Given the description of an element on the screen output the (x, y) to click on. 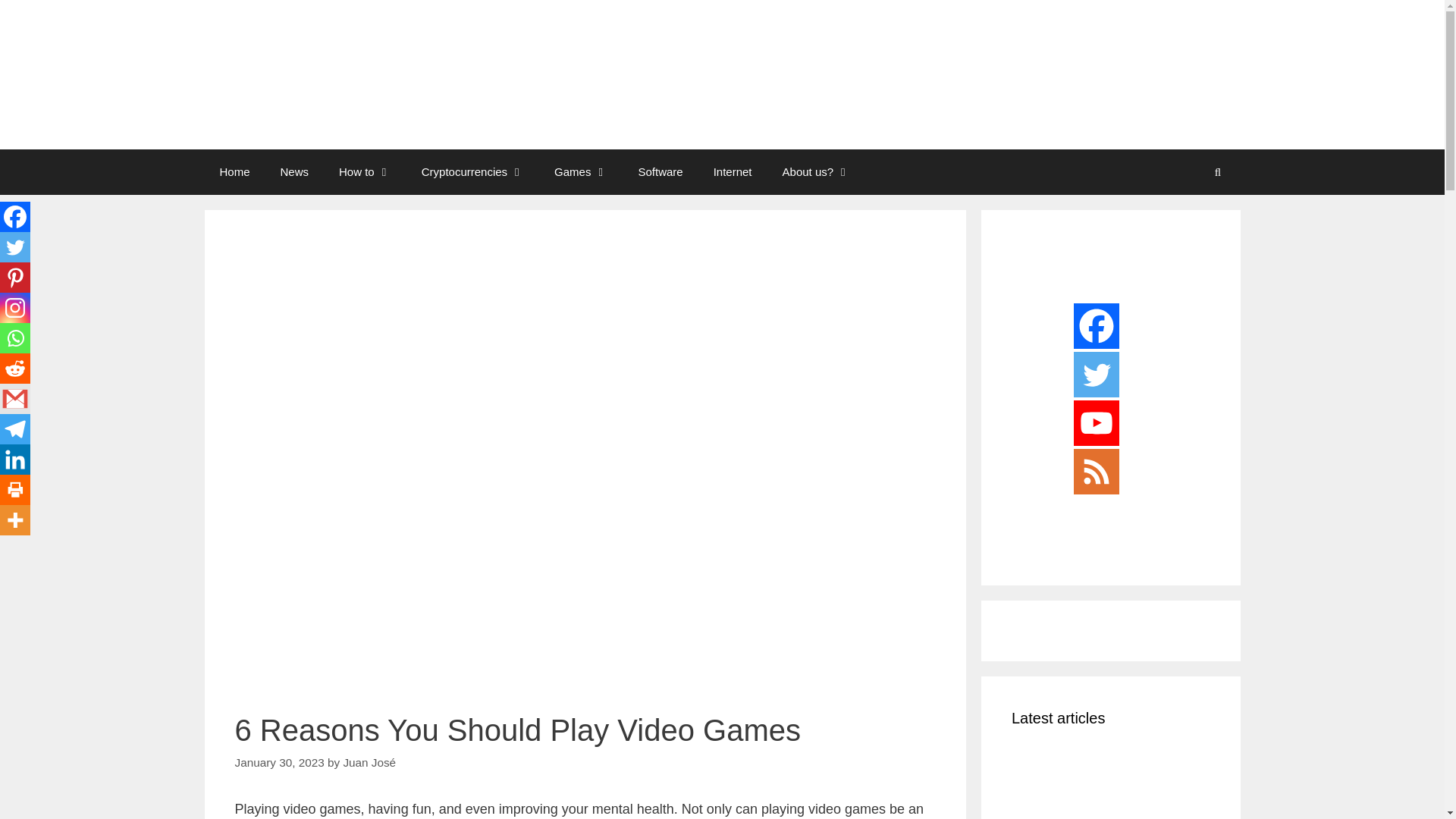
Internet (732, 171)
Facebook (15, 216)
January 30, 2023 (279, 762)
Reddit (15, 368)
islaBit (337, 74)
Cryptocurrencies (472, 171)
News (294, 171)
Google Gmail (15, 399)
islaBit (337, 73)
Games (580, 171)
